Given the description of an element on the screen output the (x, y) to click on. 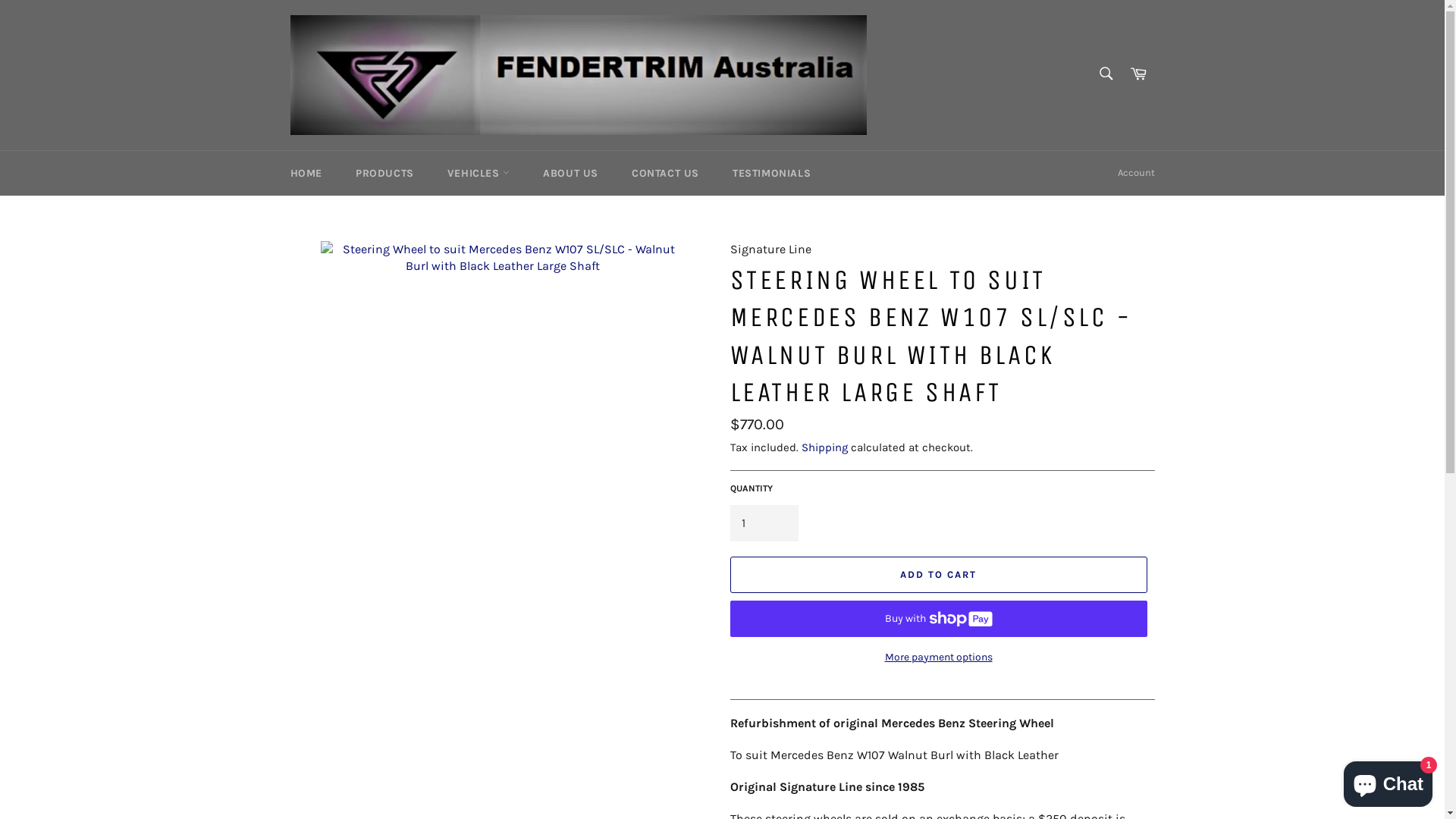
Shipping Element type: text (823, 447)
Account Element type: text (1136, 172)
ABOUT US Element type: text (570, 172)
CONTACT US Element type: text (665, 172)
PRODUCTS Element type: text (384, 172)
Shopify online store chat Element type: hover (1388, 780)
TESTIMONIALS Element type: text (771, 172)
ADD TO CART Element type: text (937, 574)
More payment options Element type: text (937, 657)
VEHICLES Element type: text (478, 172)
Cart Element type: text (1138, 74)
HOME Element type: text (305, 172)
Search Element type: text (1105, 73)
